Given the description of an element on the screen output the (x, y) to click on. 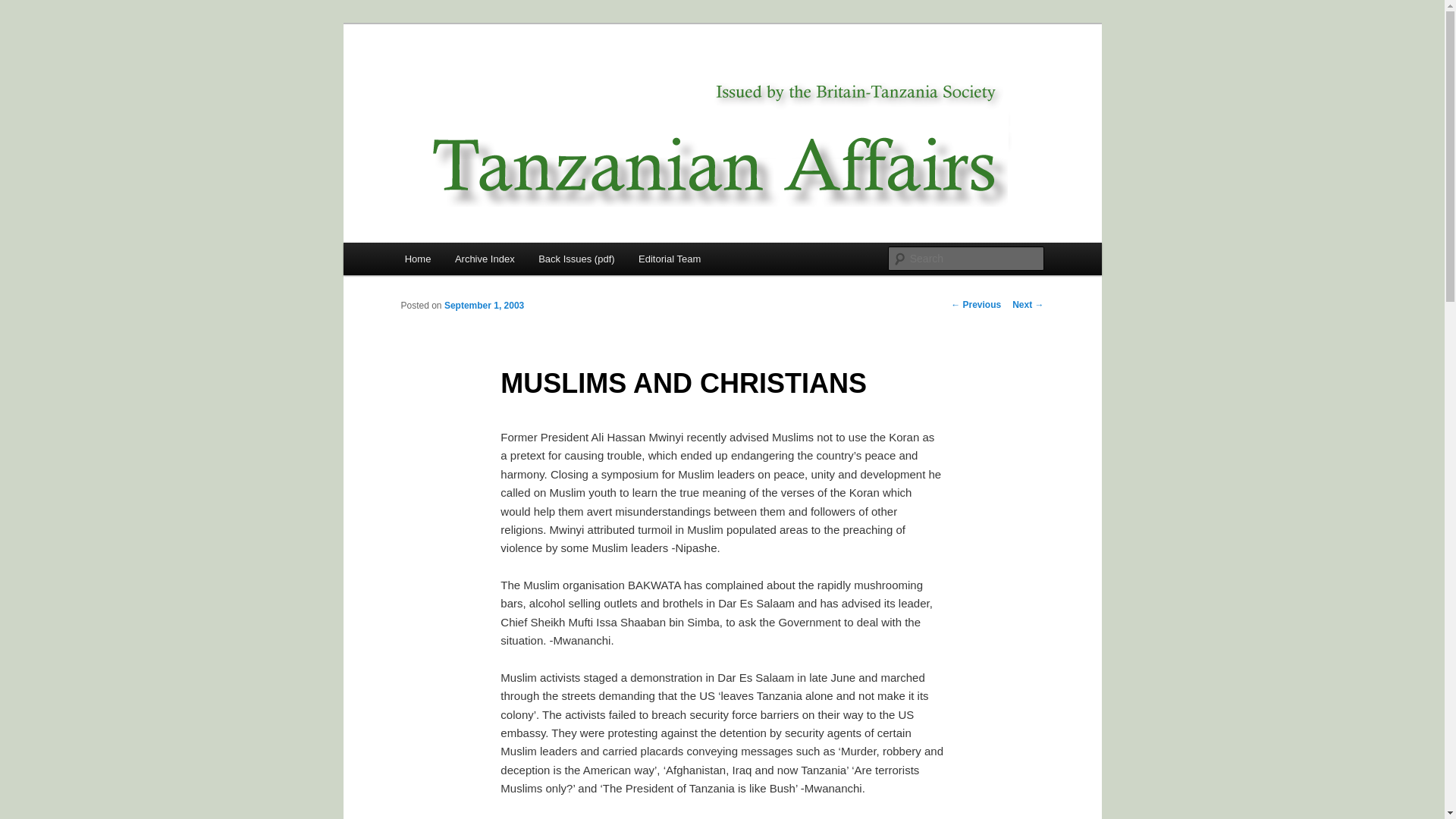
Editorial Team (669, 258)
Home (417, 258)
Search (24, 8)
September 1, 2003 (484, 305)
Archive Index (483, 258)
Tanzanian Affairs (494, 78)
